Given the description of an element on the screen output the (x, y) to click on. 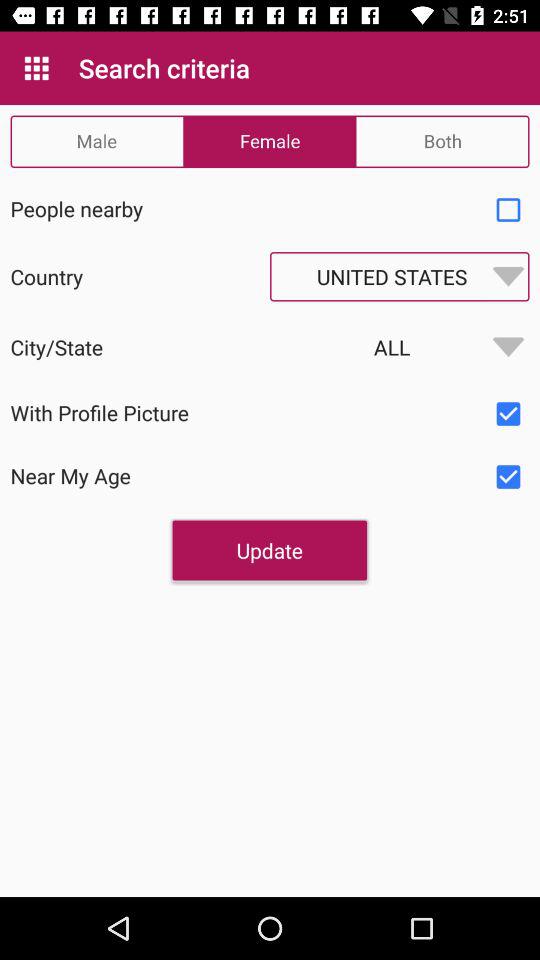
option containing profile picture (508, 414)
